Given the description of an element on the screen output the (x, y) to click on. 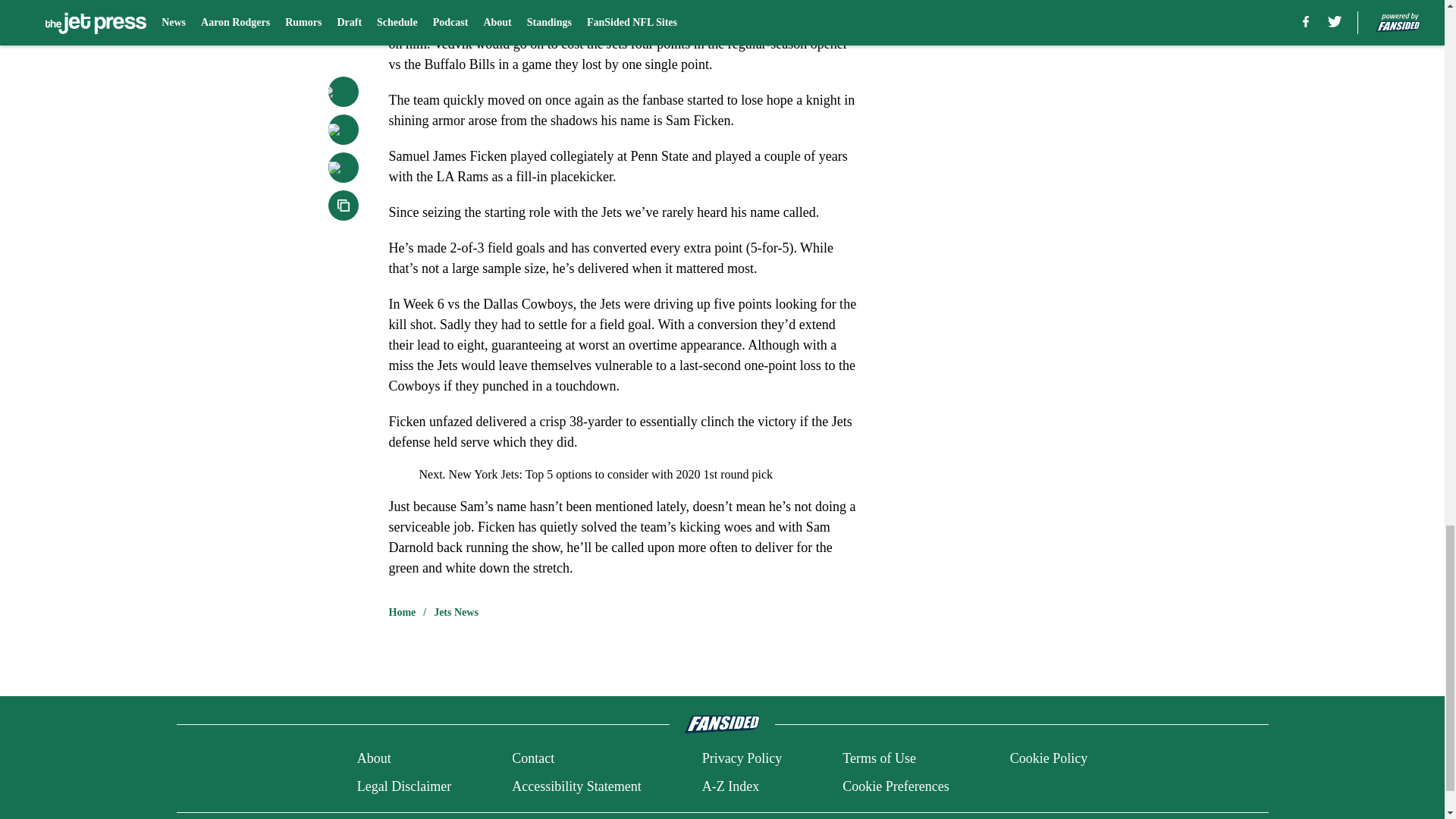
Jets News (456, 612)
Cookie Preferences (896, 786)
Contact (533, 758)
Accessibility Statement (576, 786)
Cookie Policy (1048, 758)
Legal Disclaimer (403, 786)
Privacy Policy (742, 758)
Terms of Use (879, 758)
About (373, 758)
A-Z Index (729, 786)
Home (401, 612)
